Given the description of an element on the screen output the (x, y) to click on. 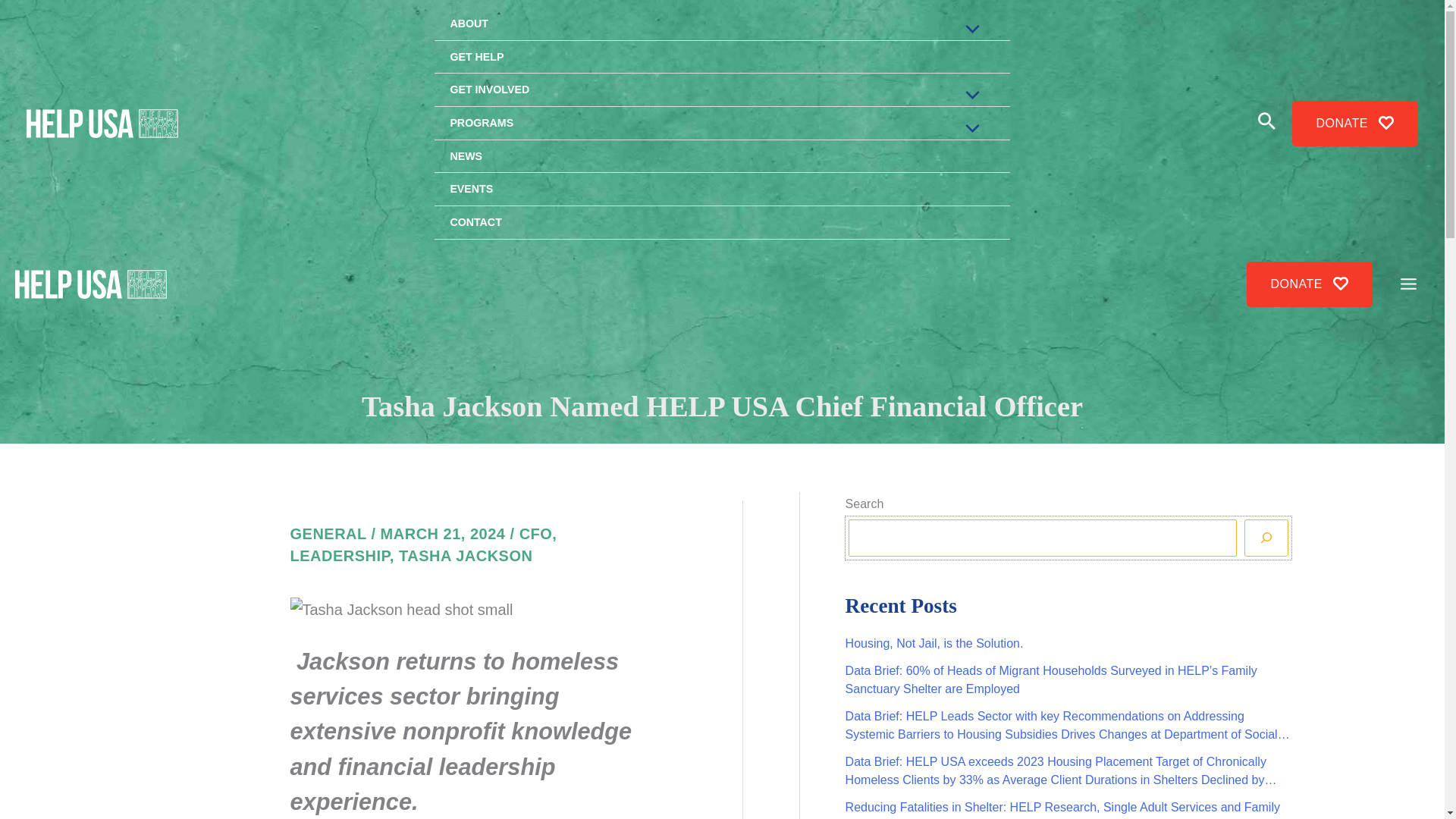
Main Menu (1408, 283)
NEWS (721, 156)
EVENTS (721, 189)
Menu Toggle (968, 95)
Menu Toggle (968, 30)
DONATE (1309, 284)
GET INVOLVED (721, 90)
Menu Toggle (968, 129)
PROGRAMS (721, 123)
ABOUT (721, 23)
